Given the description of an element on the screen output the (x, y) to click on. 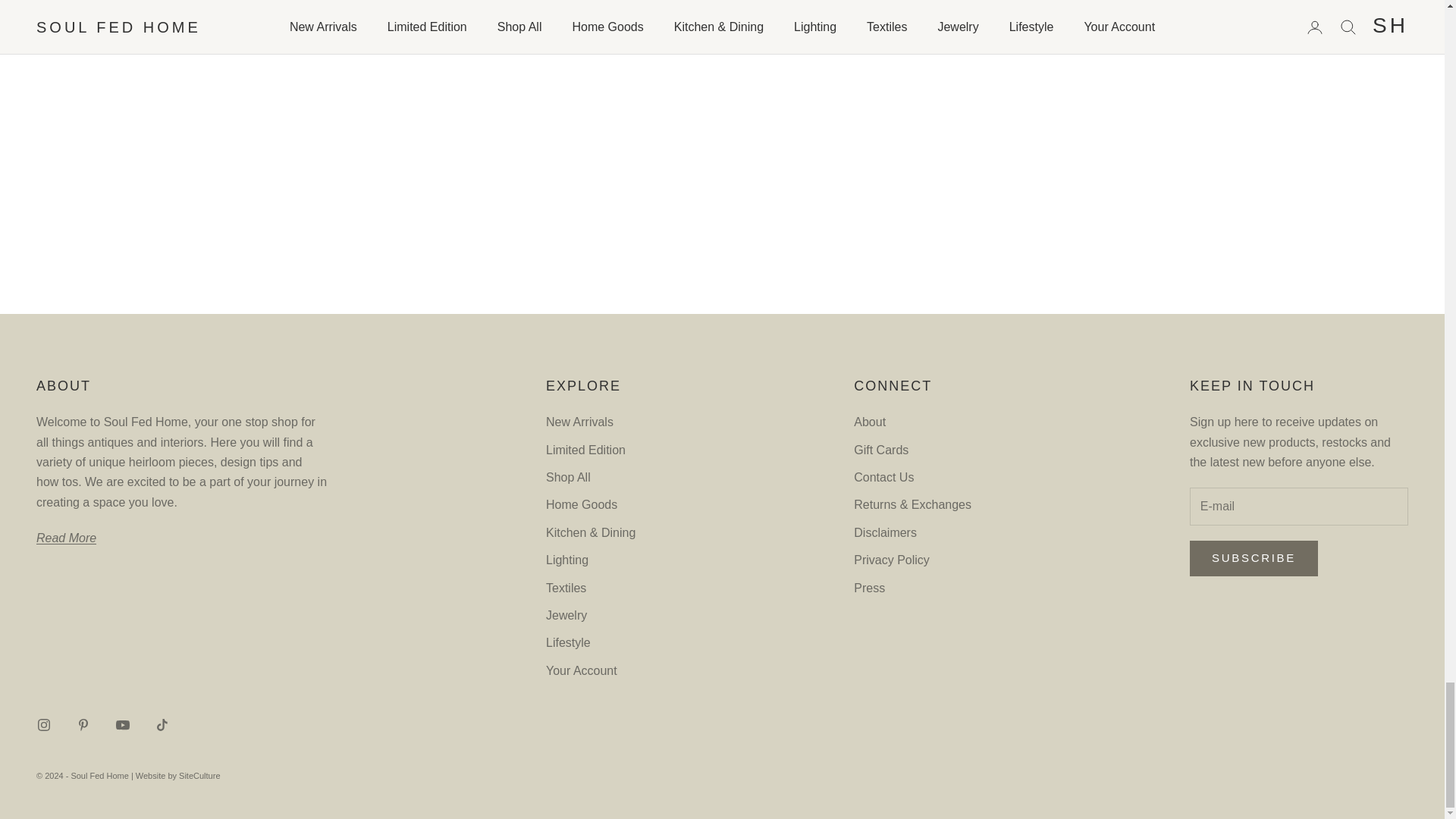
About (66, 537)
